Given the description of an element on the screen output the (x, y) to click on. 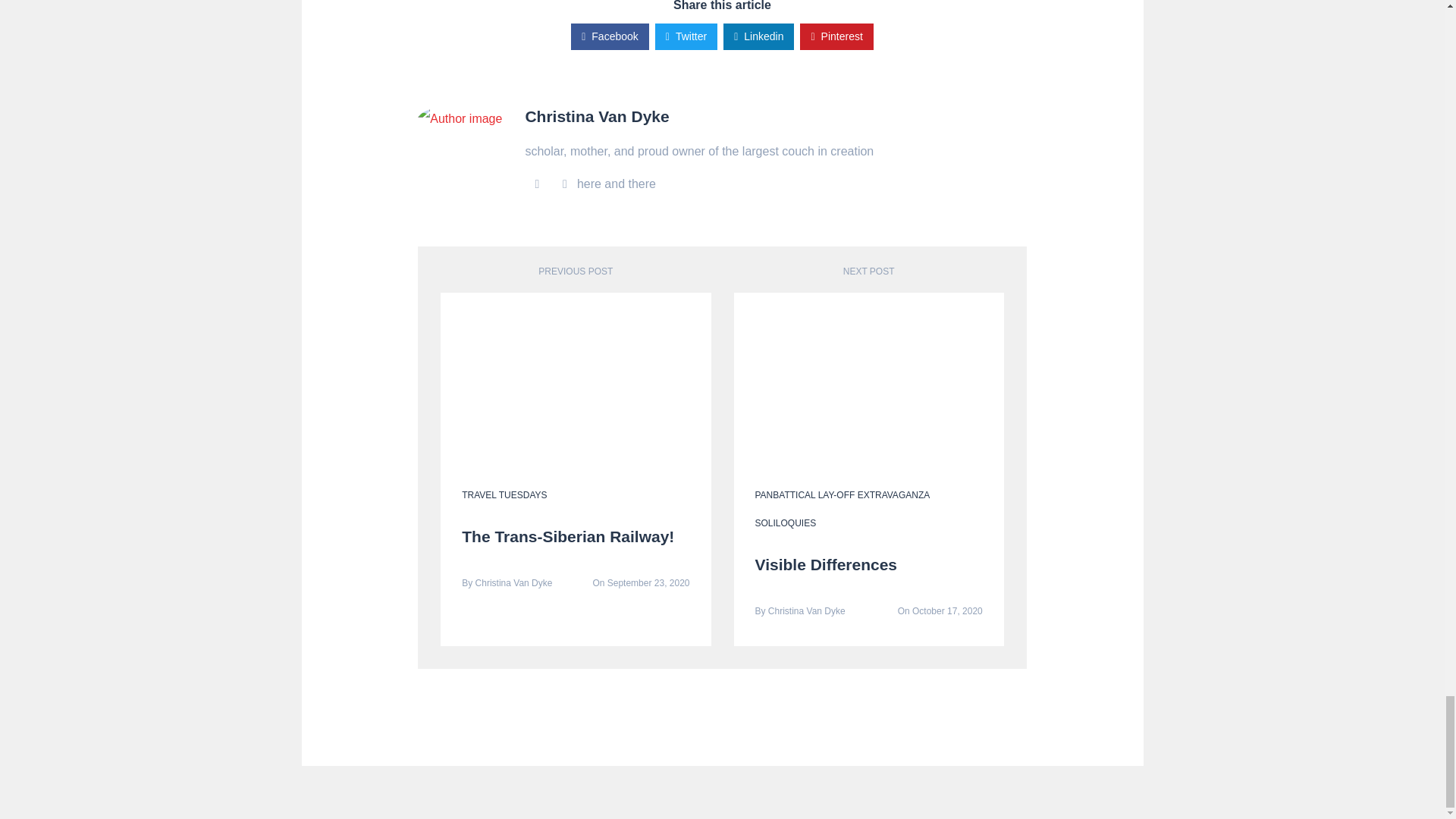
Share on Twitter (686, 36)
Linkedin (758, 36)
Visible Differences (826, 564)
TRAVEL TUESDAYS (504, 494)
PREVIOUS POST (575, 271)
The Trans-Siberian Railway! (567, 536)
Christina Van Dyke (514, 583)
PANBATTICAL LAY-OFF EXTRAVAGANZA (842, 494)
Pinterest (835, 36)
Facebook (609, 36)
Christina Van Dyke (596, 116)
Share on Facebook (609, 36)
SOLILOQUIES (845, 536)
Twitter (686, 36)
Share on Pinterest (835, 36)
